Given the description of an element on the screen output the (x, y) to click on. 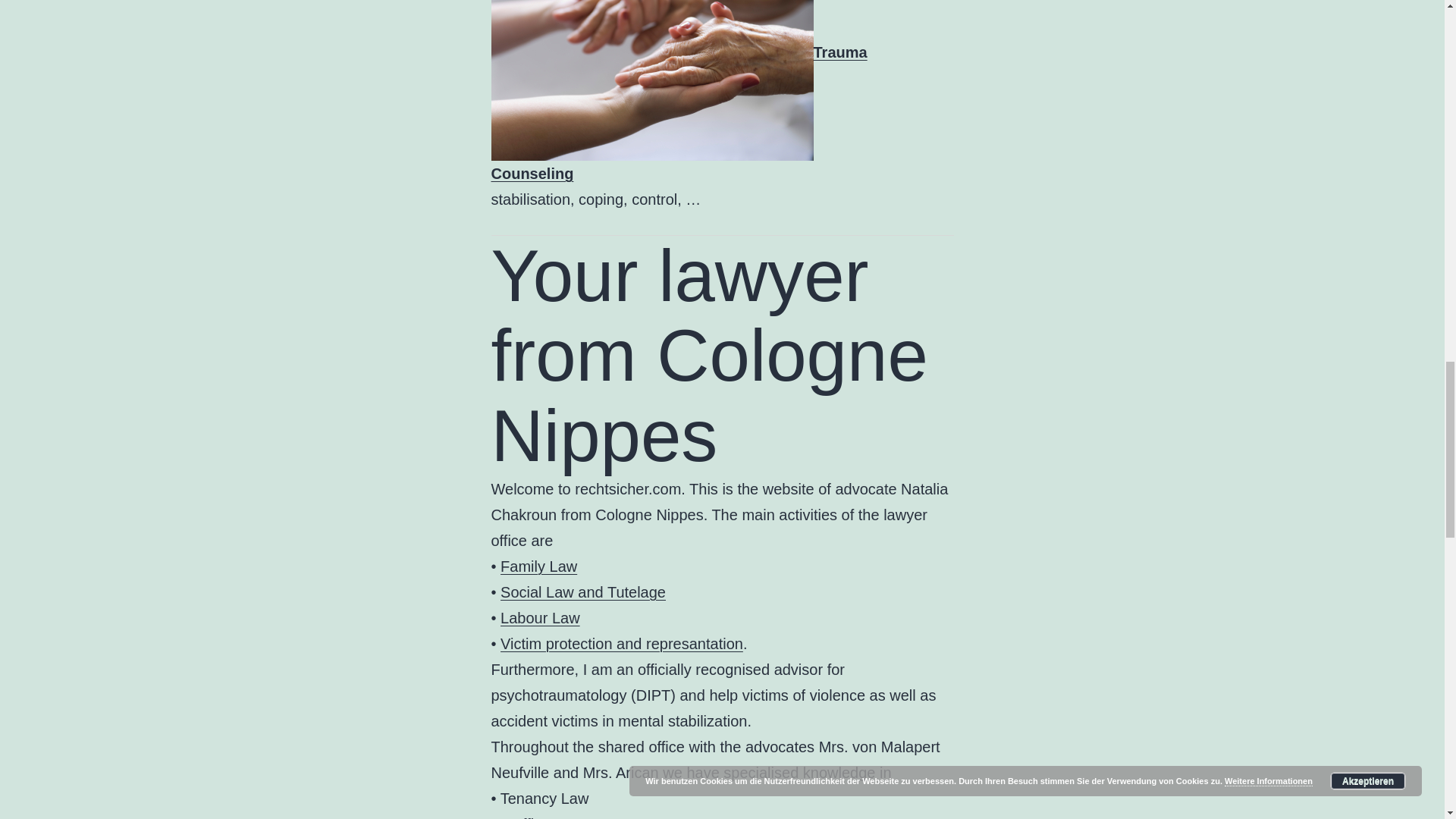
Victim protection and represantation (621, 643)
Social Law and Tutelage (582, 591)
Trauma Counseling (679, 112)
trauma counseling (652, 80)
Family Law (538, 565)
Labour Law (539, 617)
